Given the description of an element on the screen output the (x, y) to click on. 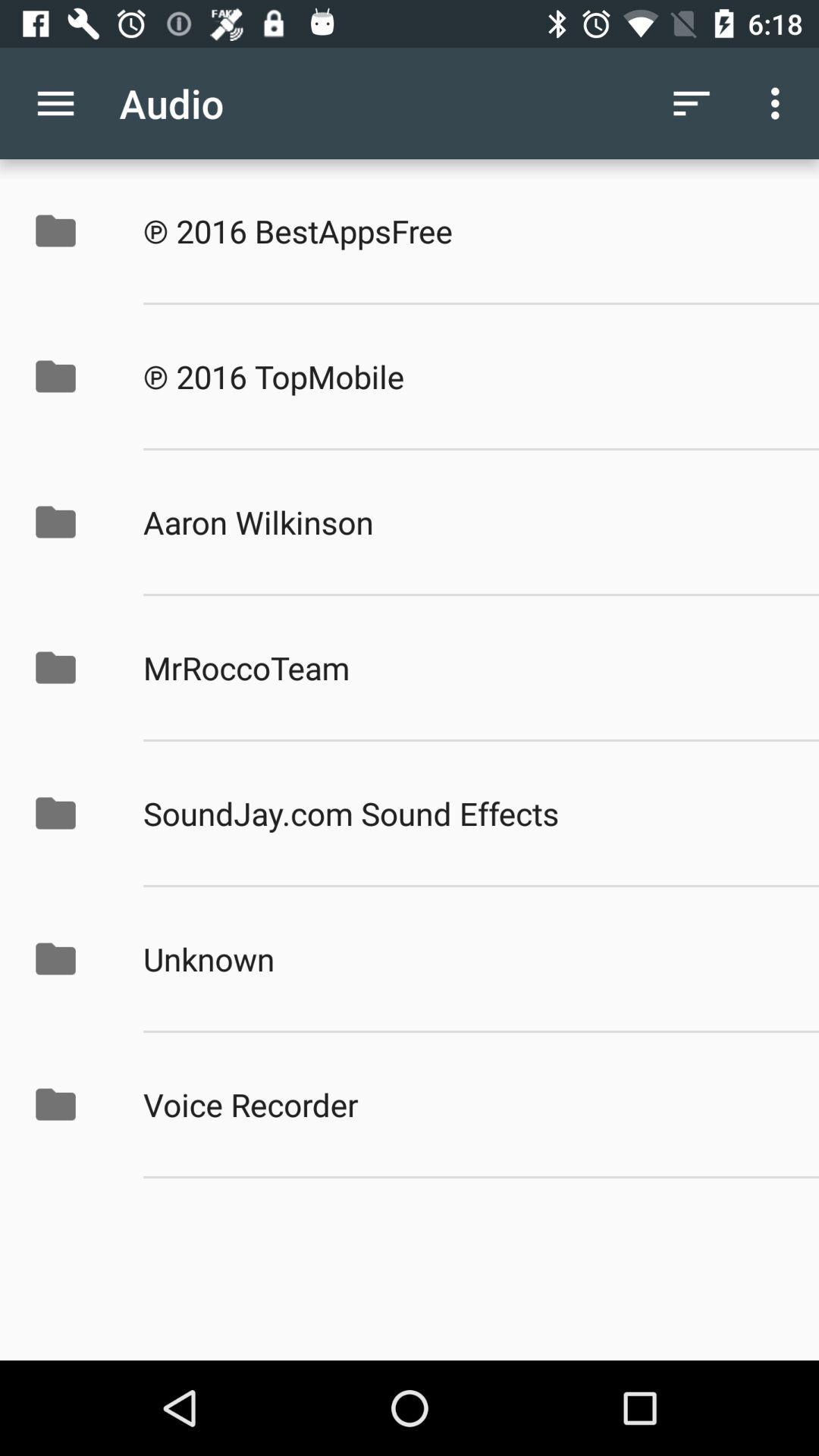
select the app next to audio (55, 103)
